Given the description of an element on the screen output the (x, y) to click on. 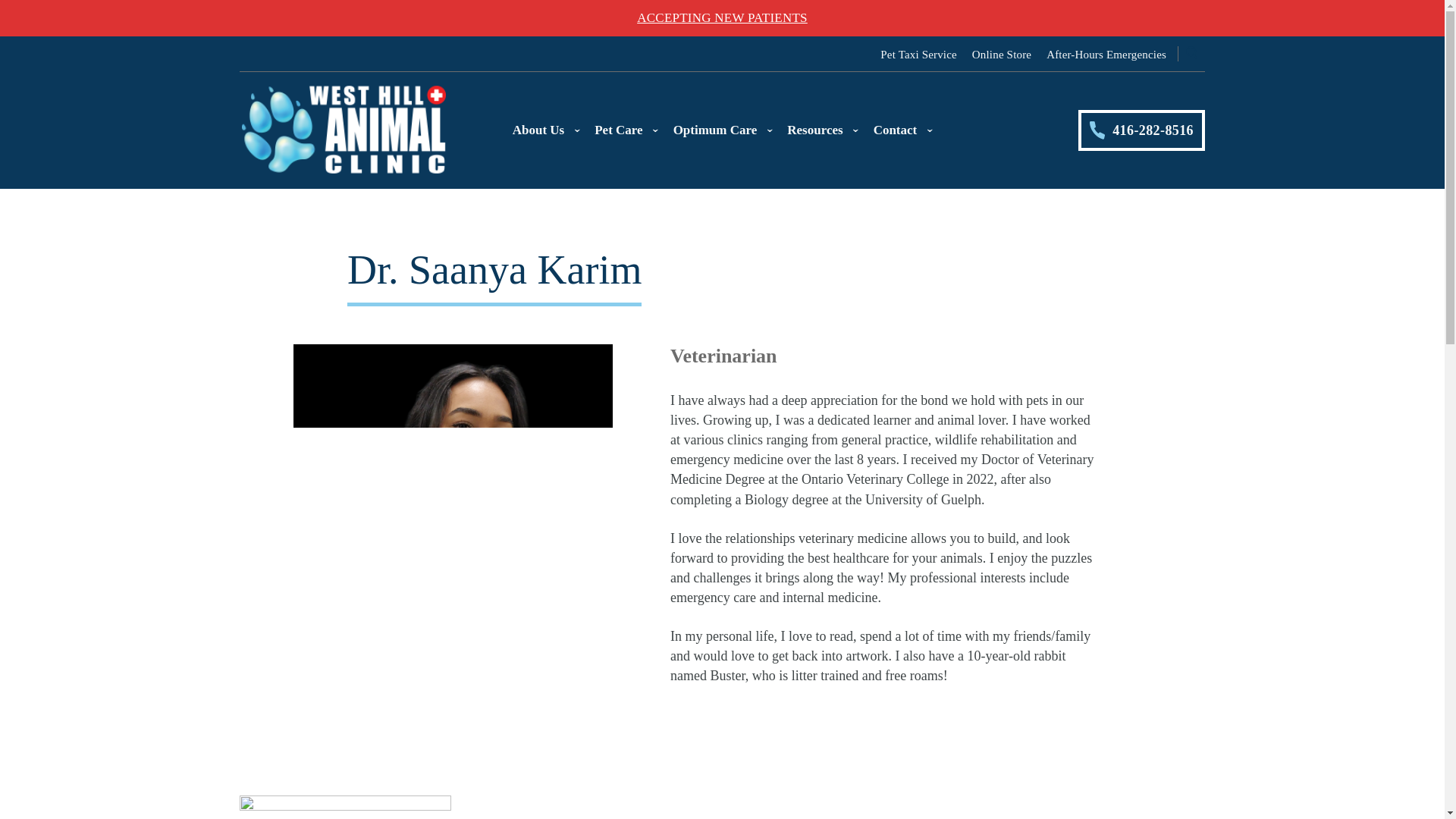
416-282-8516 (1141, 129)
Optimum Care (722, 130)
After-Hours Emergencies (1106, 54)
About Us (545, 130)
ACCEPTING NEW PATIENTS (722, 17)
Pet Taxi Service (918, 54)
Online Store (1001, 54)
Contact (903, 130)
Pet Care (626, 130)
Resources (822, 130)
